Given the description of an element on the screen output the (x, y) to click on. 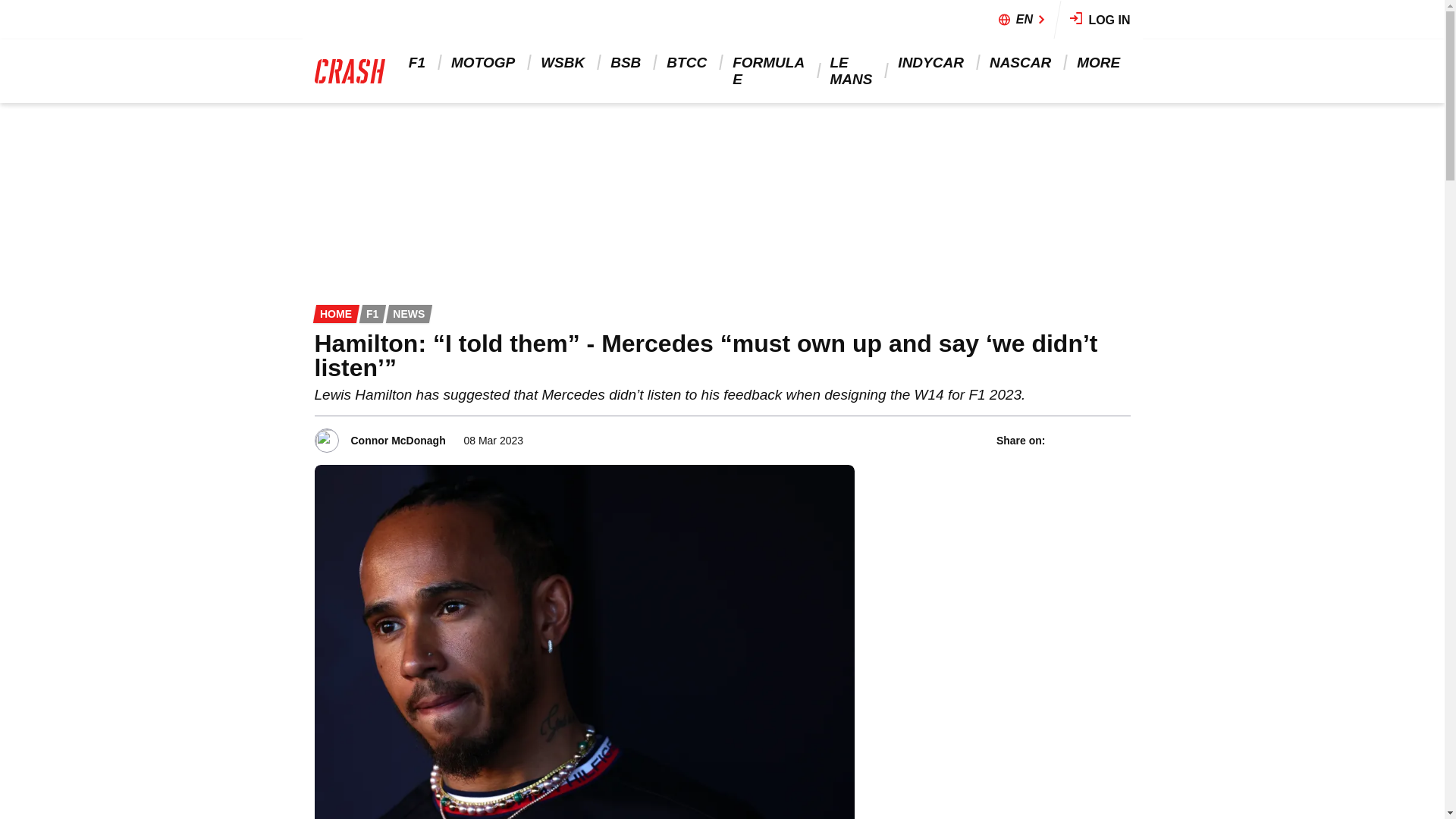
LOG IN (1100, 19)
MOTOGP (484, 62)
BSB (626, 62)
Share to X (1080, 440)
Share to Linkedin (1099, 440)
F1 (418, 62)
Share to Facebook (1060, 440)
Share to Email (1119, 440)
WSBK (563, 62)
